Given the description of an element on the screen output the (x, y) to click on. 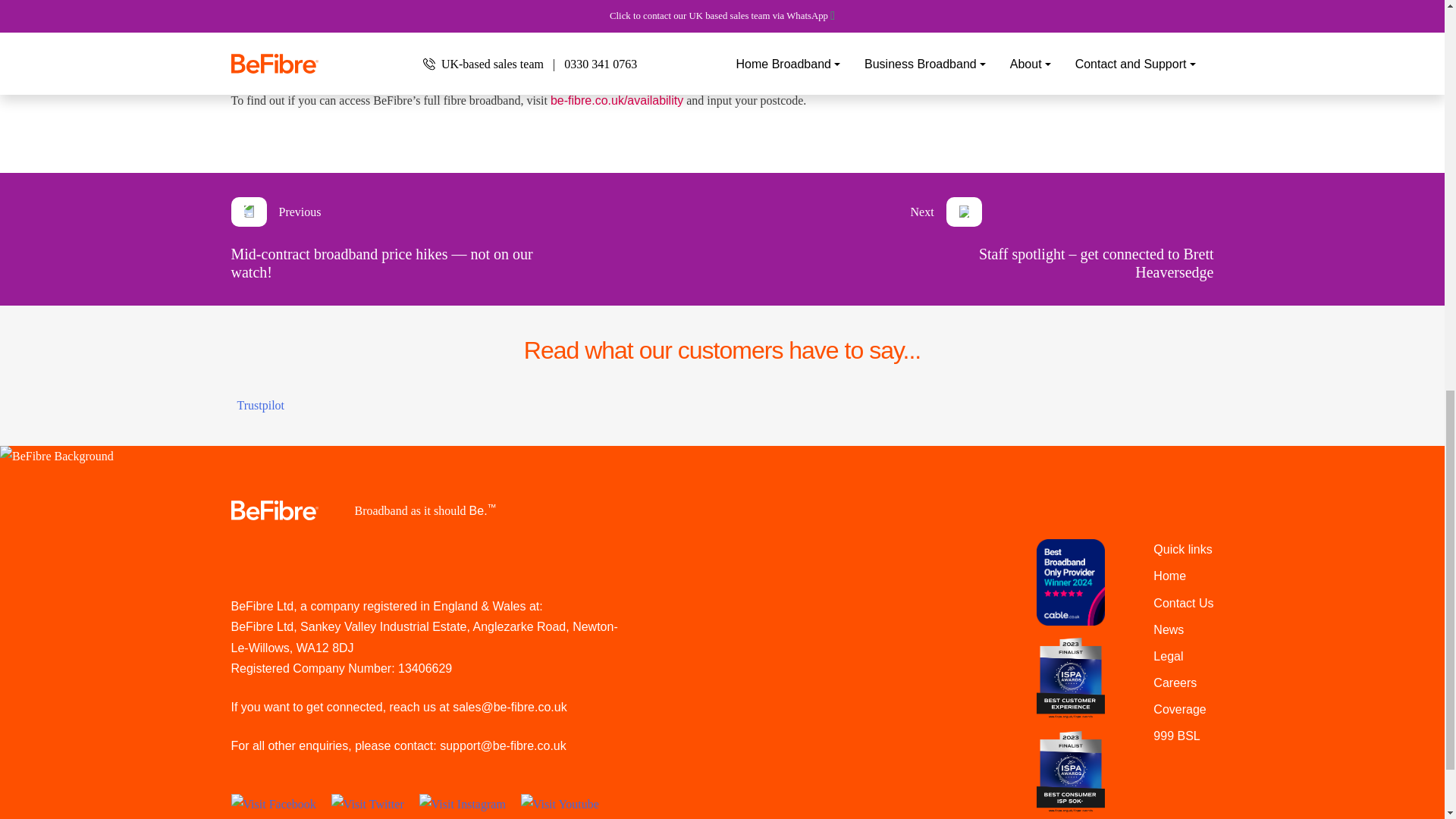
Home (1169, 575)
Legal (1167, 656)
Contact Us (1182, 603)
Careers (1174, 682)
Trustpilot (259, 404)
News (1168, 629)
